Given the description of an element on the screen output the (x, y) to click on. 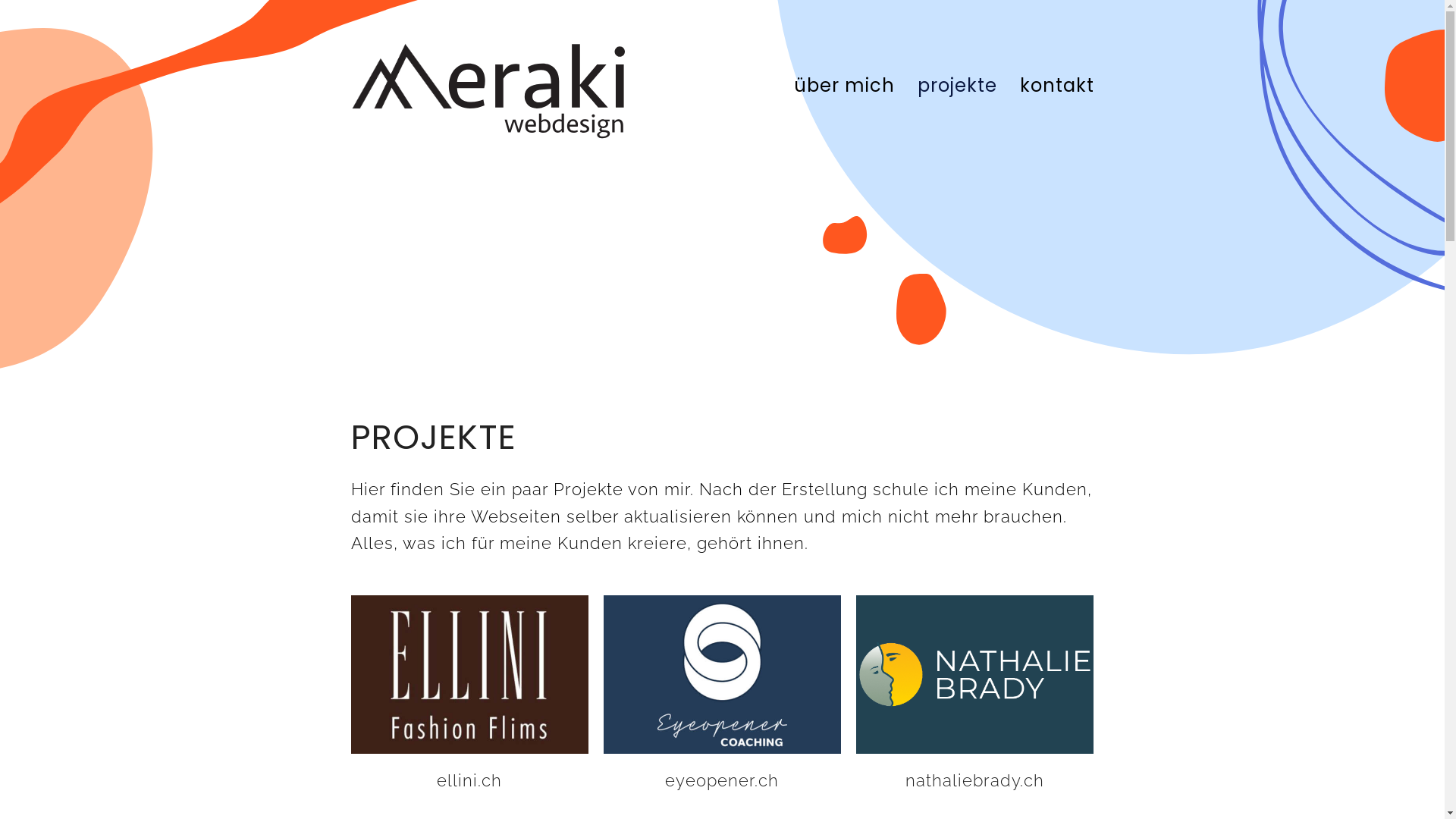
projekte Element type: text (956, 81)
ellini.ch Element type: text (469, 780)
kontakt Element type: text (1056, 81)
nathaliebrady.ch Element type: hover (974, 672)
ellini.ch Element type: hover (468, 672)
eyeopener.ch Element type: text (721, 780)
eyeopener.ch Element type: hover (721, 672)
nathaliebrady.ch Element type: text (974, 780)
